Given the description of an element on the screen output the (x, y) to click on. 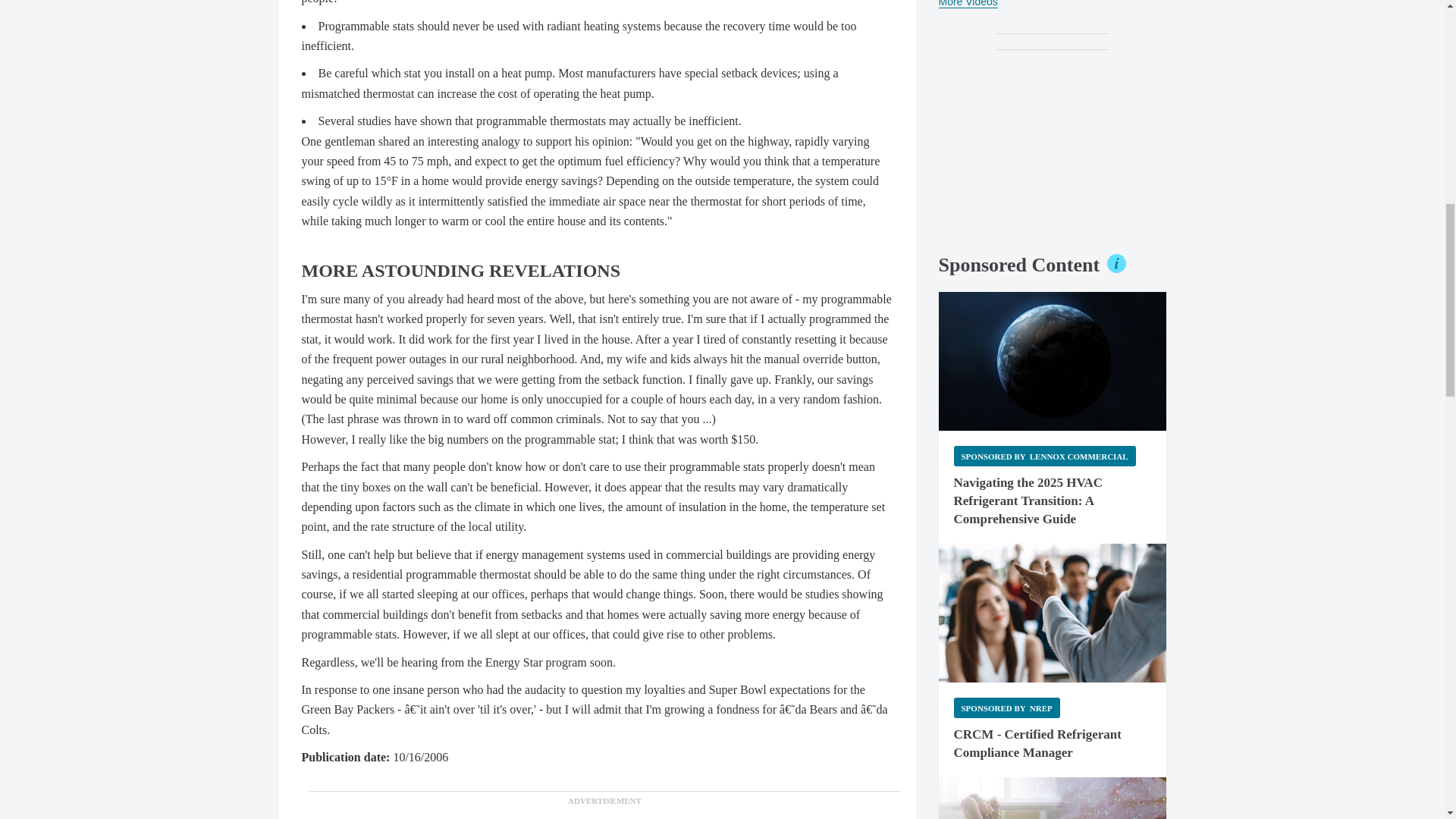
Earth (1052, 361)
Sponsored by NREP (1006, 707)
Daiken Refrigerants (1052, 798)
Sponsored by Lennox Commercial (1044, 455)
CRCM Certified Refrigerant Compliance Manager (1052, 613)
